Given the description of an element on the screen output the (x, y) to click on. 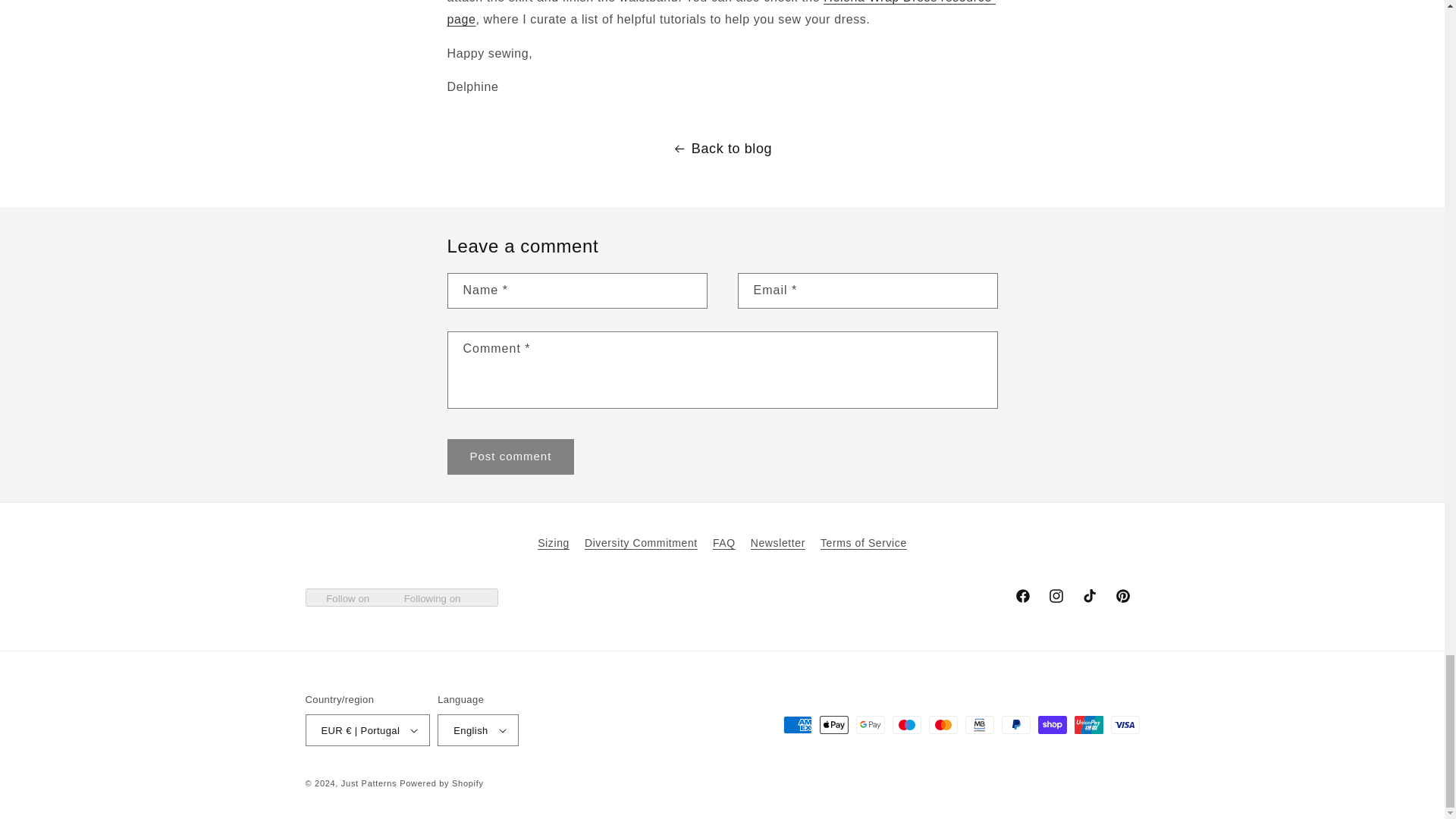
Post comment (510, 456)
Post comment (510, 456)
Sizing (553, 544)
Helena Wrap Dress resource page (720, 12)
